Given the description of an element on the screen output the (x, y) to click on. 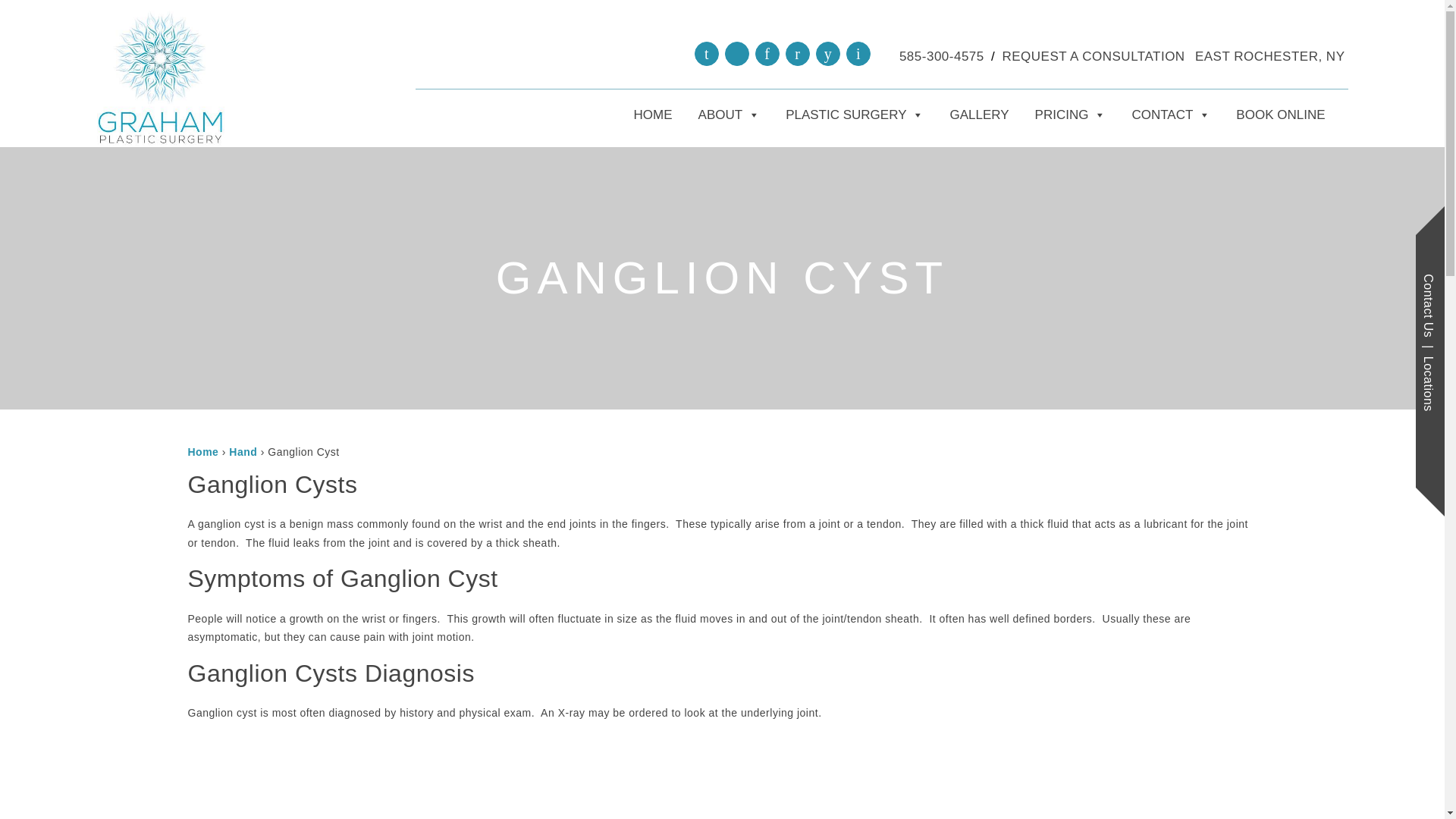
PLASTIC SURGERY (854, 115)
REQUEST A CONSULTATION (1093, 56)
EAST ROCHESTER, NY (1270, 56)
HOME (653, 115)
ABOUT (729, 115)
585-300-4575 (941, 56)
